Given the description of an element on the screen output the (x, y) to click on. 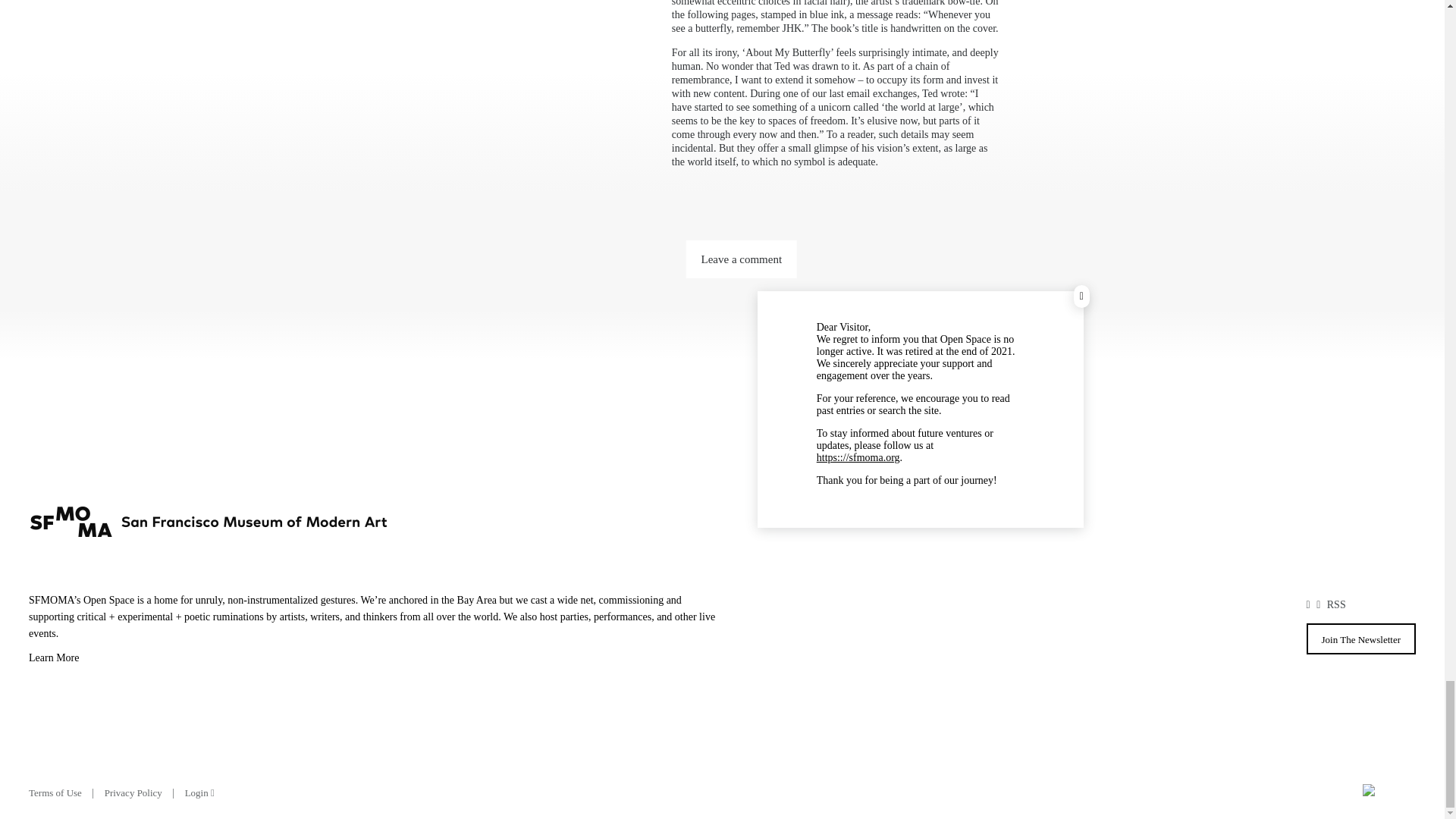
RSS (1335, 604)
Learn More (375, 660)
Terms of Use (55, 792)
Login (199, 792)
Privacy Policy (132, 792)
Join The Newsletter (1360, 638)
